Given the description of an element on the screen output the (x, y) to click on. 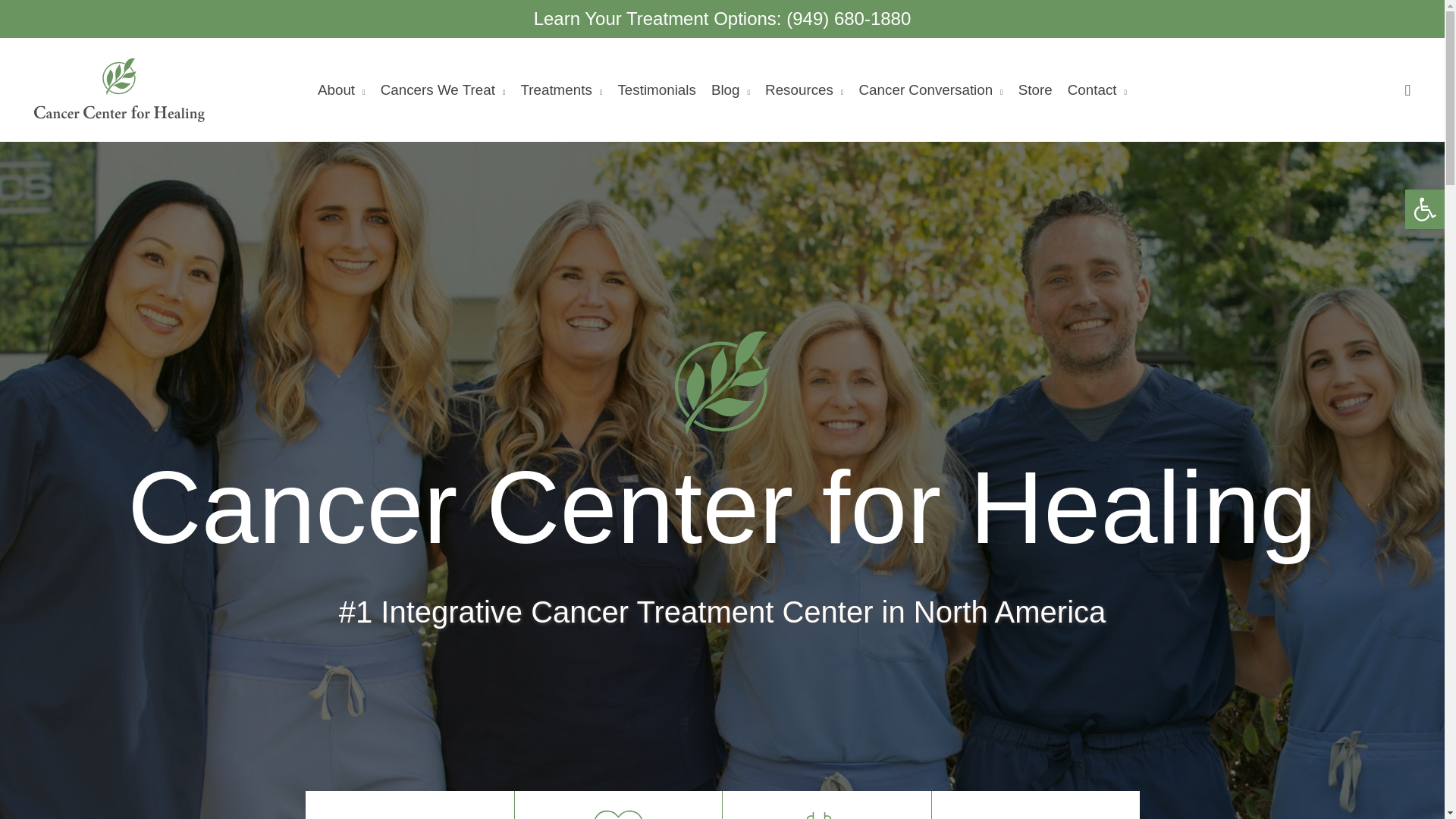
Cancers We Treat (442, 89)
Accessibility Tools (1424, 209)
Cancer Center For Healing (722, 382)
Medical Icon - Stroke - 0009 - Green (825, 812)
Medical Icon - Stroke - 0027 - Green (617, 812)
Medical Icon - Stroke - 0017 - Green (409, 818)
About (341, 89)
